Given the description of an element on the screen output the (x, y) to click on. 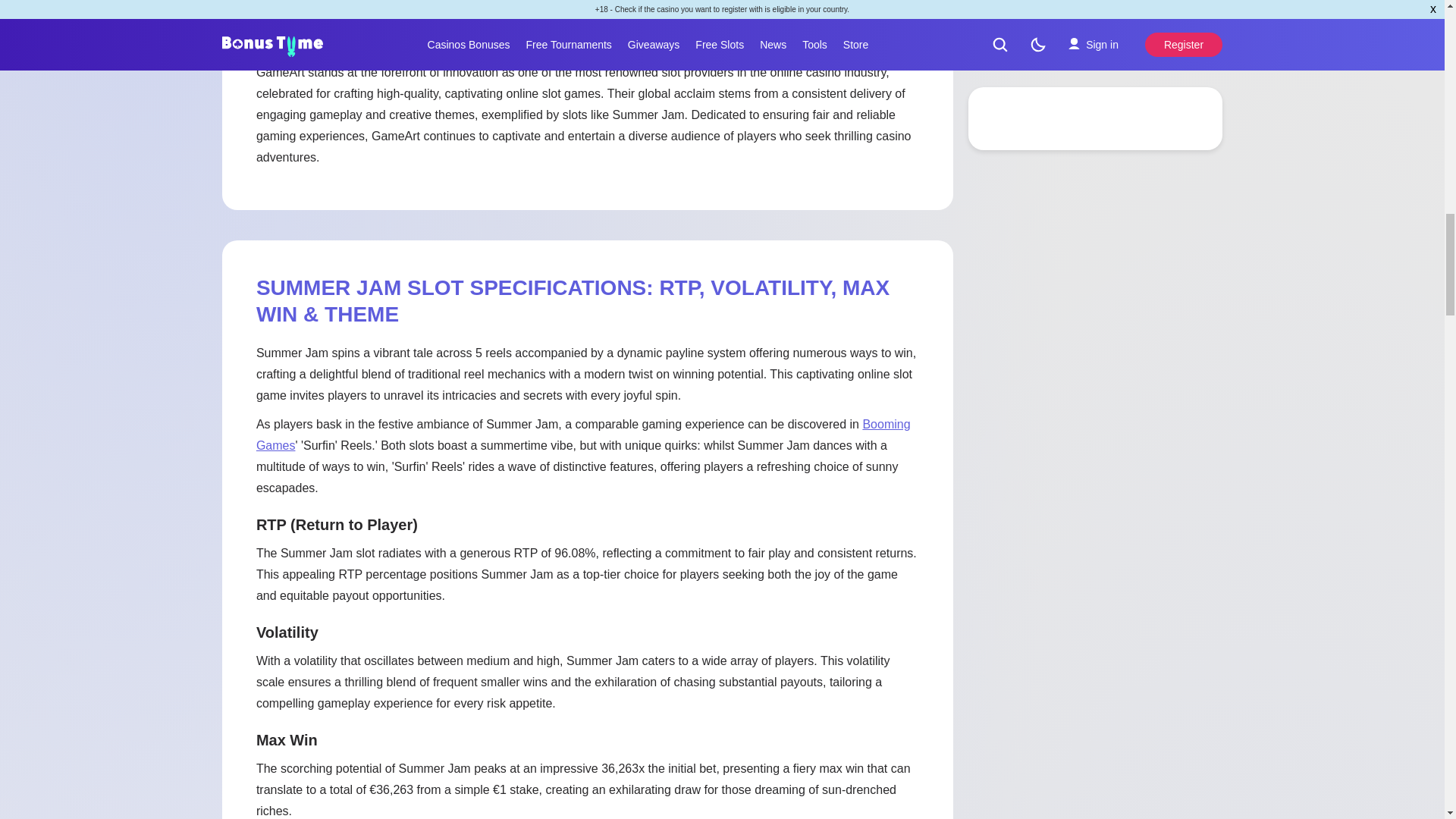
Booming Games (583, 434)
